Given the description of an element on the screen output the (x, y) to click on. 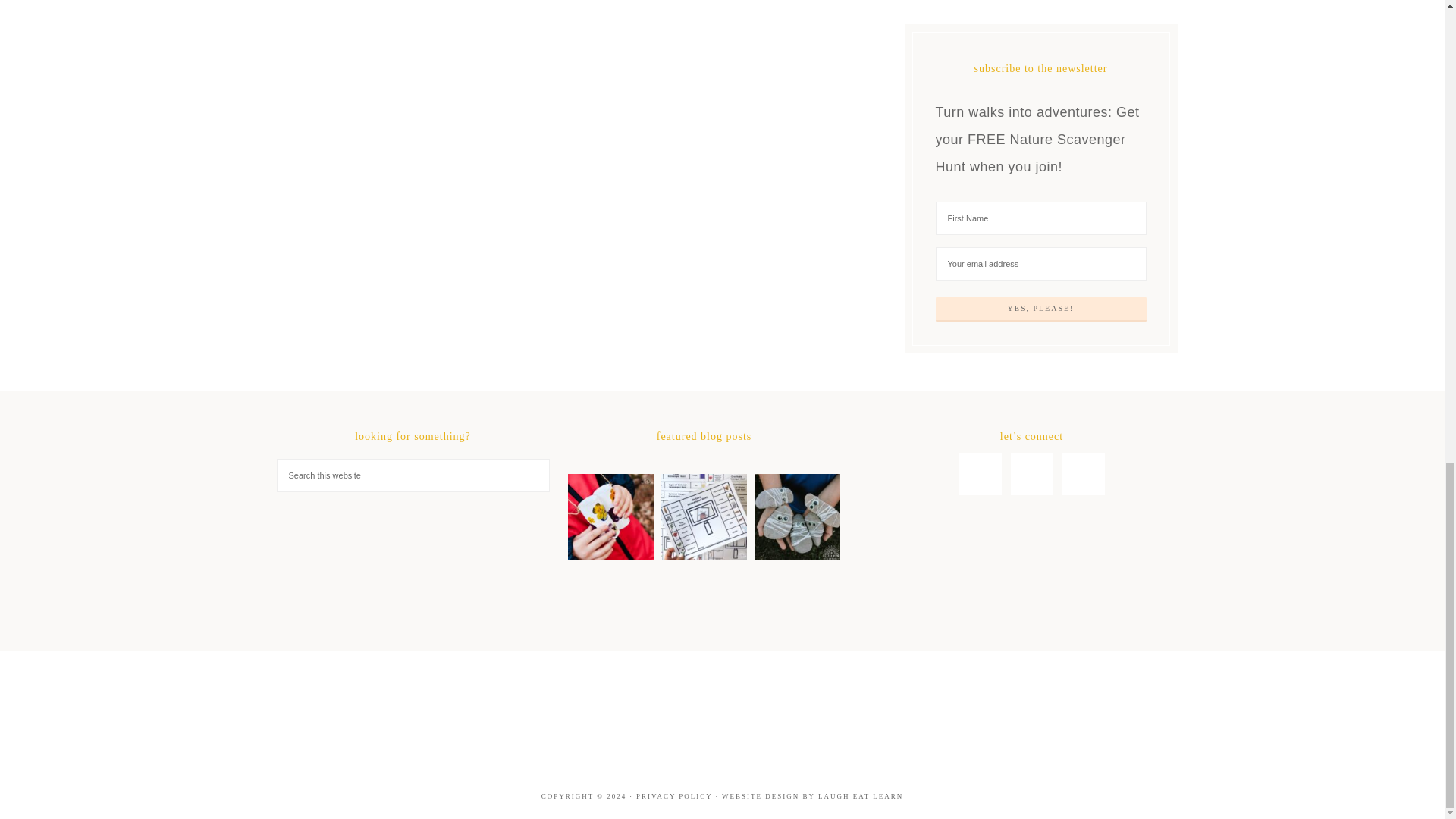
YES, PLEASE! (1041, 309)
YES, PLEASE! (1041, 309)
